Given the description of an element on the screen output the (x, y) to click on. 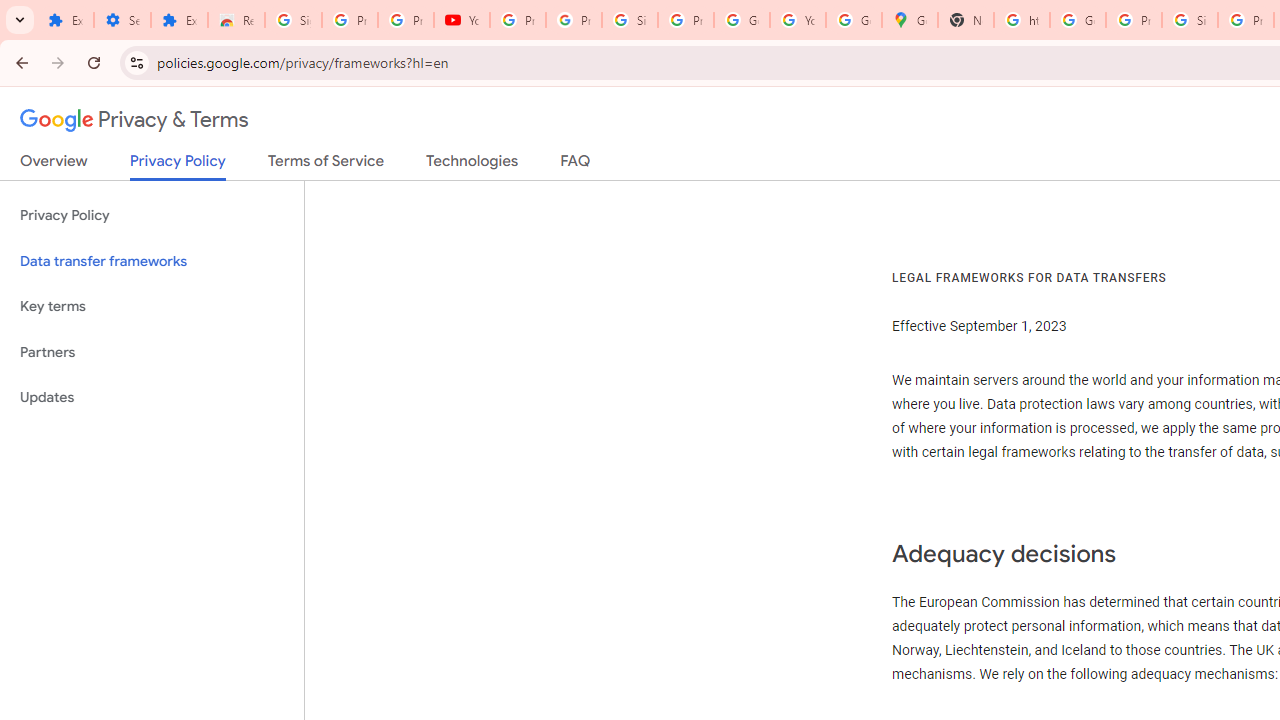
New Tab (966, 20)
Sign in - Google Accounts (629, 20)
https://scholar.google.com/ (1021, 20)
